Given the description of an element on the screen output the (x, y) to click on. 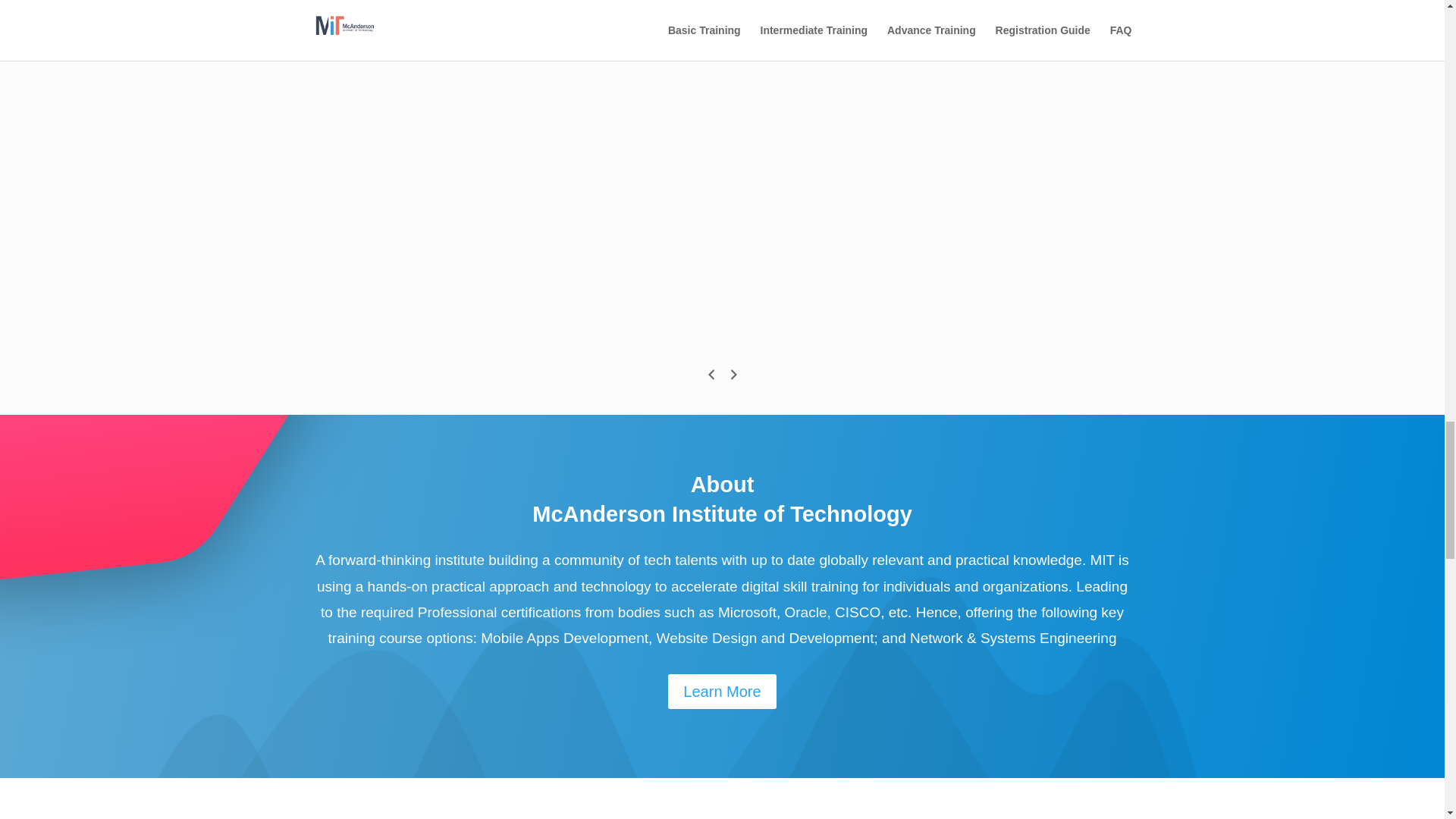
Learn More (722, 691)
